Given the description of an element on the screen output the (x, y) to click on. 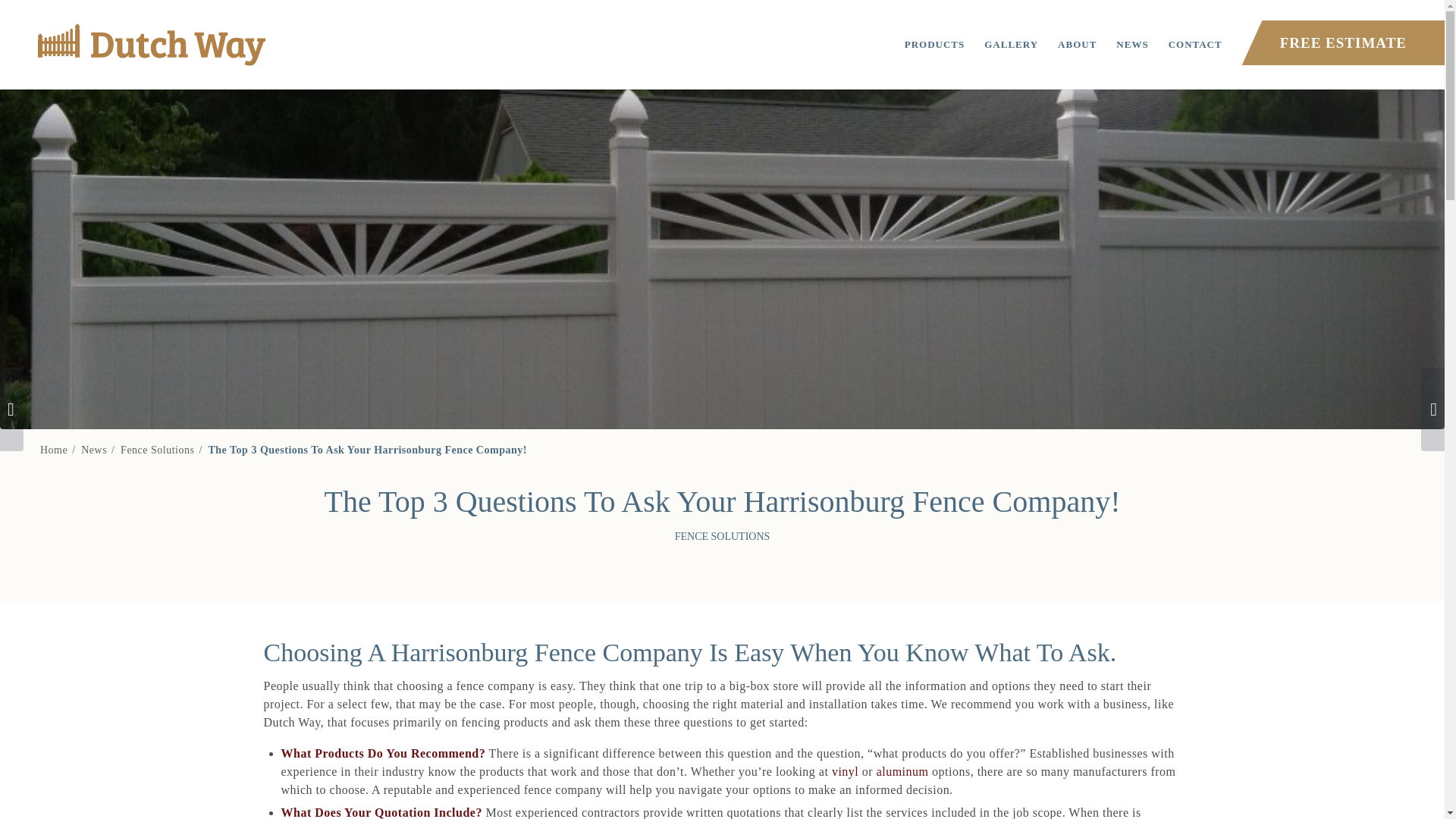
Dutch Way (53, 449)
vinyl (845, 771)
News (93, 449)
Home (53, 449)
Products (935, 44)
aluminum (902, 771)
PRODUCTS (935, 44)
Fence Solutions (156, 449)
News (93, 449)
FENCE SOLUTIONS (722, 536)
